Given the description of an element on the screen output the (x, y) to click on. 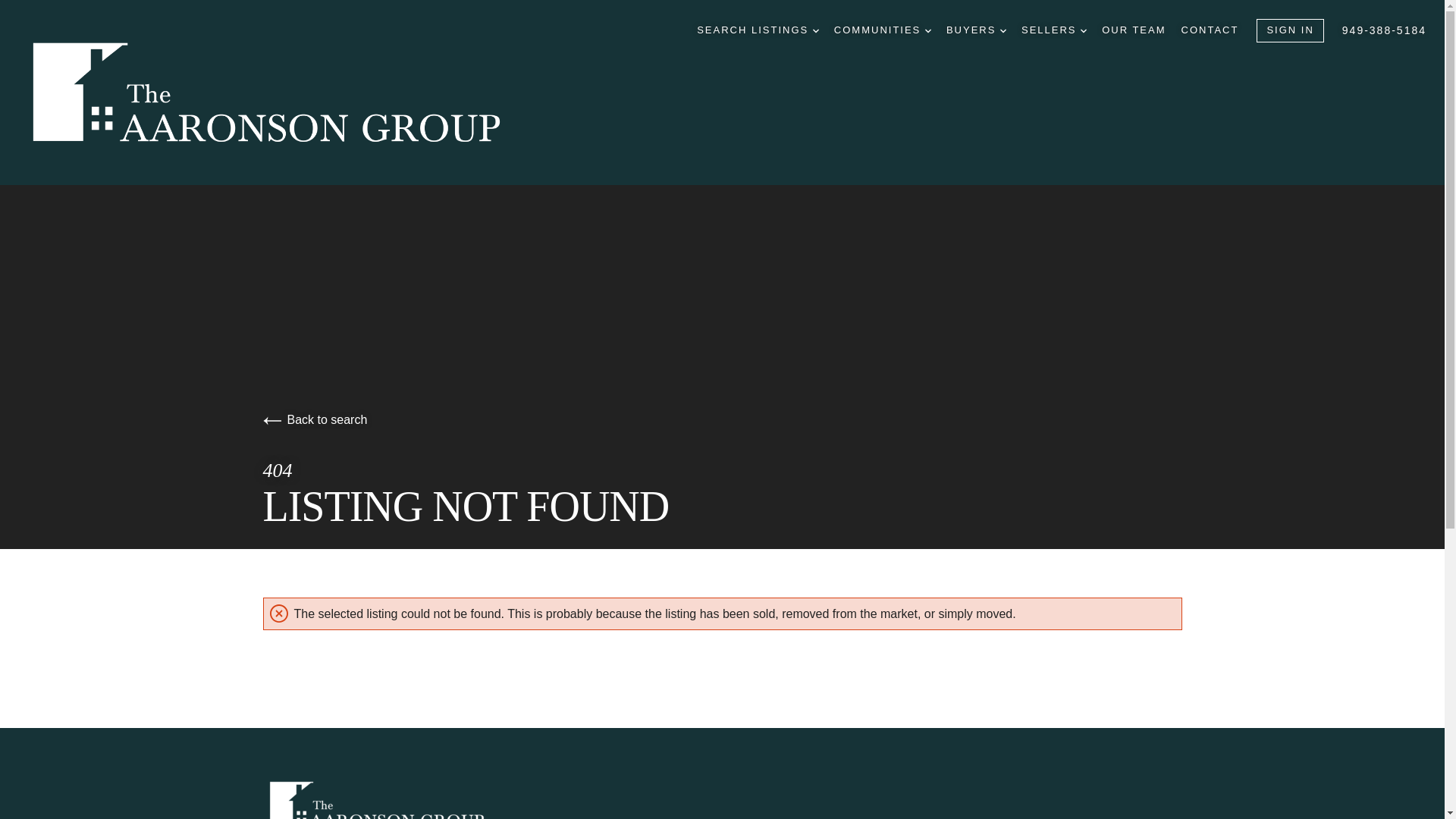
DROPDOWN ARROW (1083, 30)
OUR TEAM (1134, 30)
SELLERS DROPDOWN ARROW (1054, 30)
DROPDOWN ARROW (927, 30)
DROPDOWN ARROW (1003, 30)
COMMUNITIES DROPDOWN ARROW (882, 30)
BUYERS DROPDOWN ARROW (976, 30)
SEARCH LISTINGS DROPDOWN ARROW (757, 30)
DROPDOWN ARROW (815, 30)
CONTACT (1209, 30)
